Given the description of an element on the screen output the (x, y) to click on. 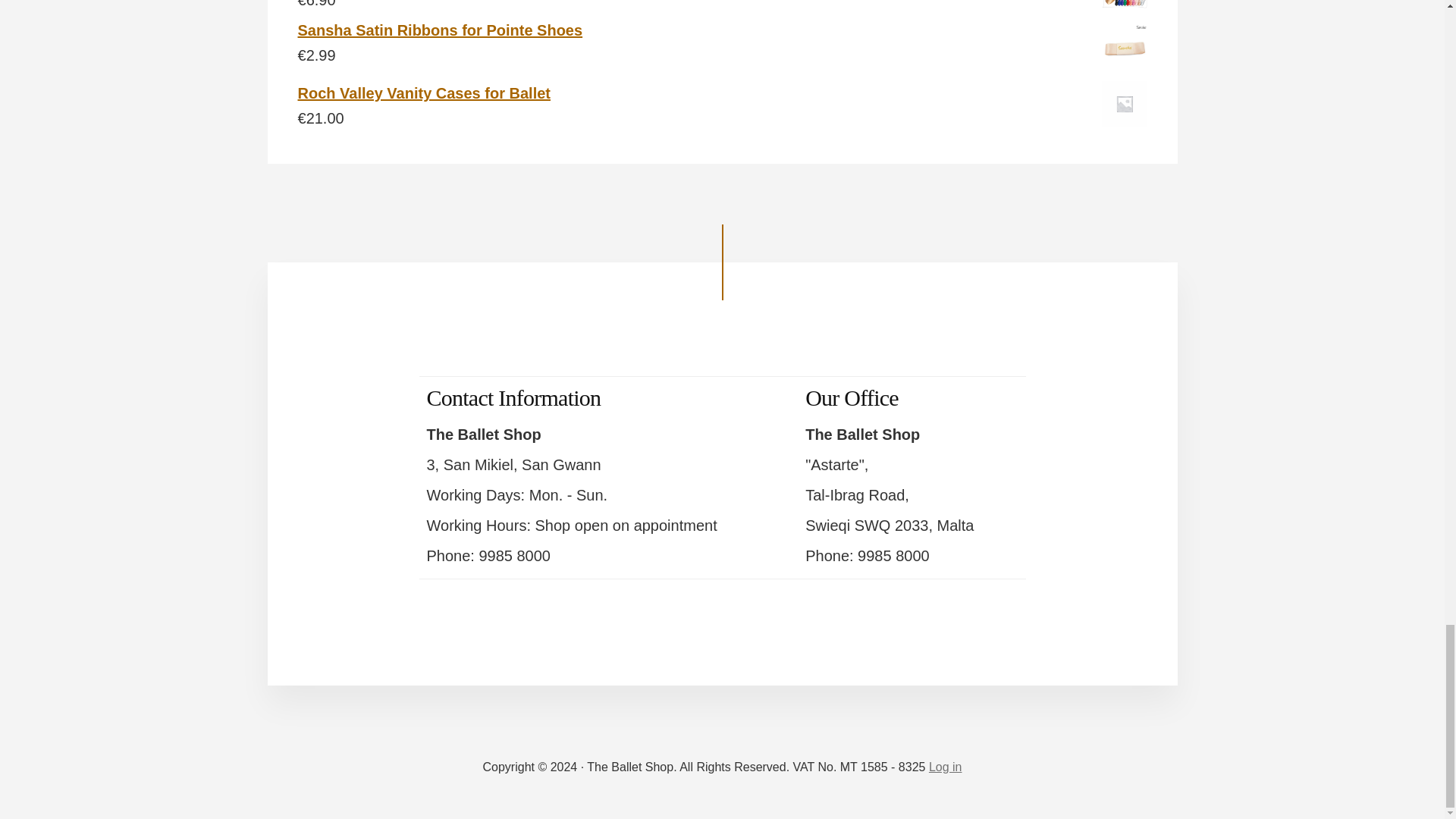
Log in (945, 766)
Roch Valley Vanity Cases for Ballet (722, 93)
Sansha Satin Ribbons for Pointe Shoes (722, 30)
